Given the description of an element on the screen output the (x, y) to click on. 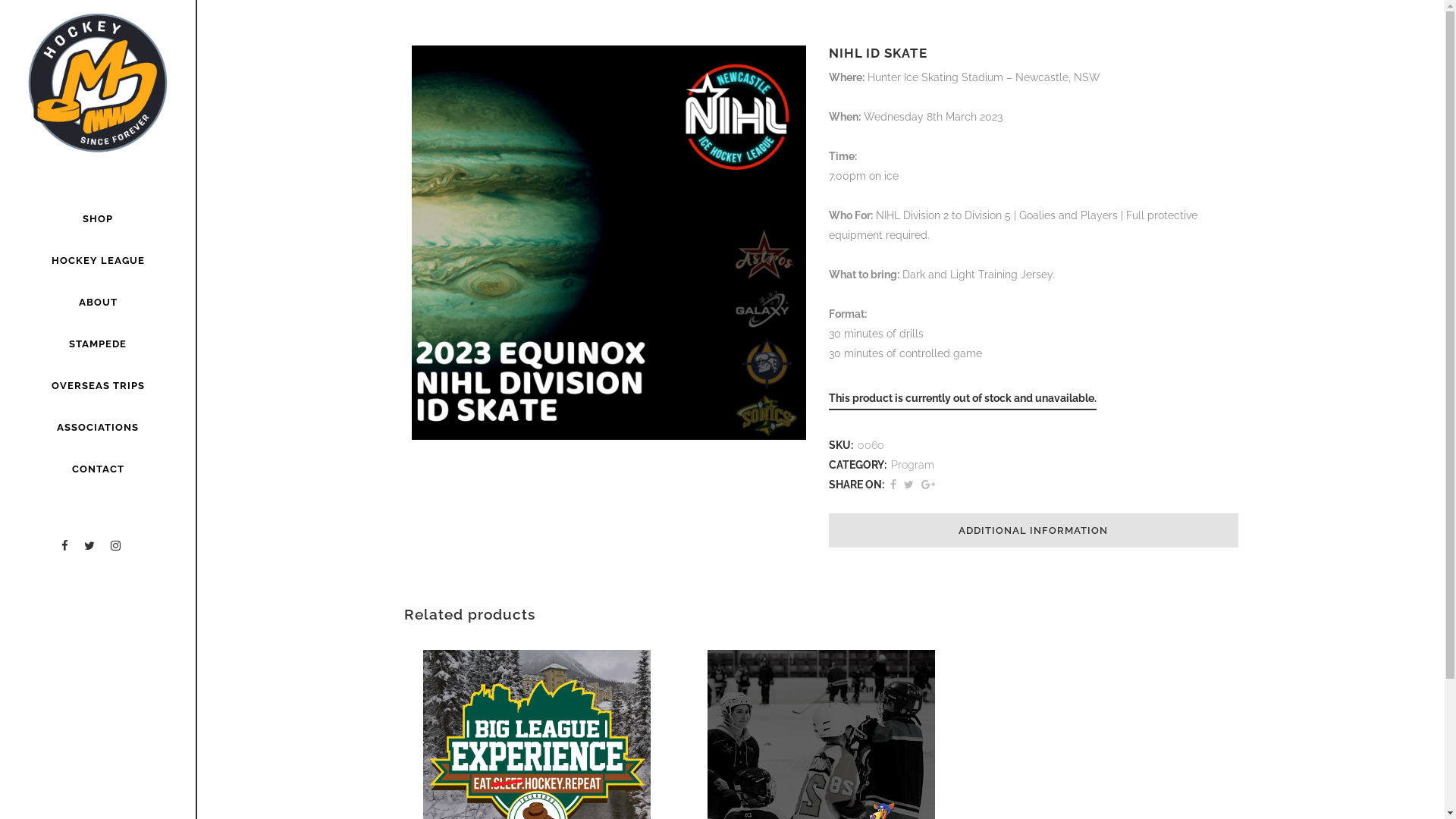
OVERSEAS TRIPS Element type: text (97, 385)
ASSOCIATIONS Element type: text (97, 427)
SHOP Element type: text (97, 218)
Share on Twitter Element type: hover (908, 484)
CONTACT Element type: text (97, 468)
Share on Facebook Element type: hover (893, 484)
ABOUT Element type: text (97, 302)
Winter 2023 ID Skate Element type: hover (608, 242)
STAMPEDE Element type: text (97, 343)
Program Element type: text (911, 464)
HOCKEY LEAGUE Element type: text (97, 260)
Share on Google+ Element type: hover (927, 484)
